Given the description of an element on the screen output the (x, y) to click on. 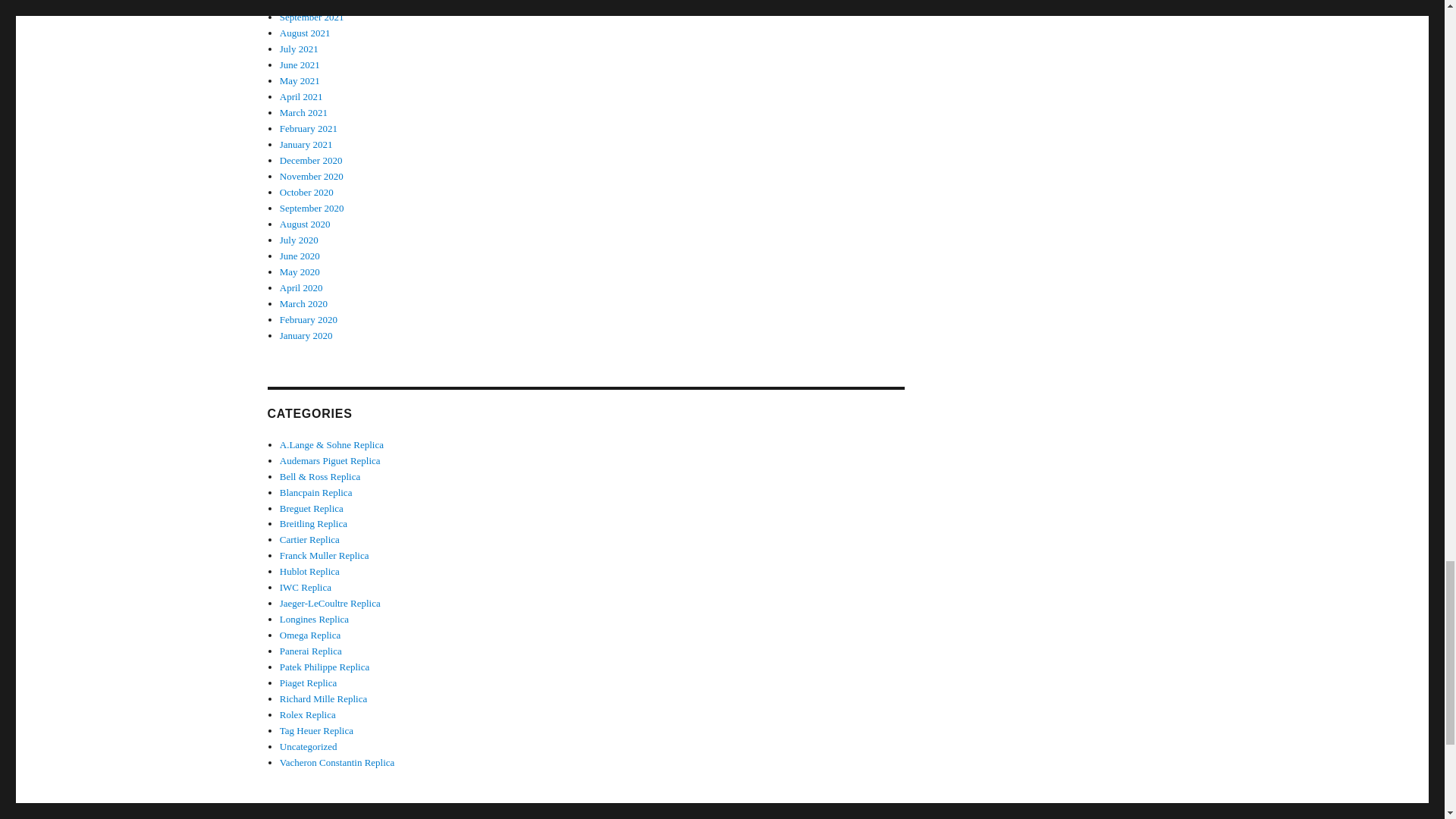
December 2020 (310, 160)
October 2021 (306, 3)
July 2021 (298, 48)
February 2021 (308, 128)
May 2021 (299, 80)
September 2021 (311, 16)
June 2021 (299, 64)
March 2021 (303, 112)
